Given the description of an element on the screen output the (x, y) to click on. 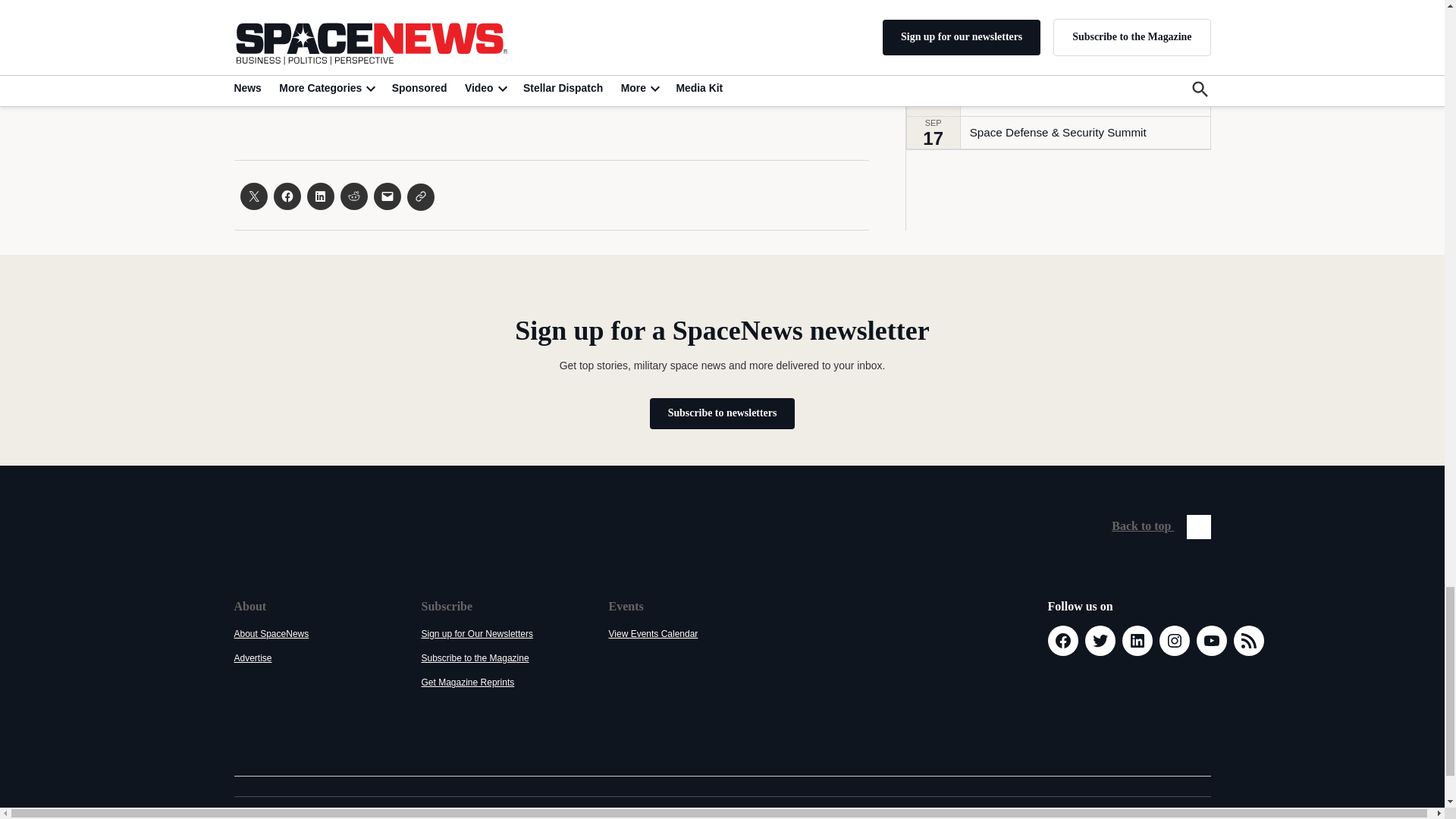
Click to share on Clipboard (419, 196)
Click to share on X (253, 195)
Click to share on Reddit (352, 195)
Click to share on LinkedIn (319, 195)
Click to email a link to a friend (386, 195)
Click to share on Facebook (286, 195)
